Given the description of an element on the screen output the (x, y) to click on. 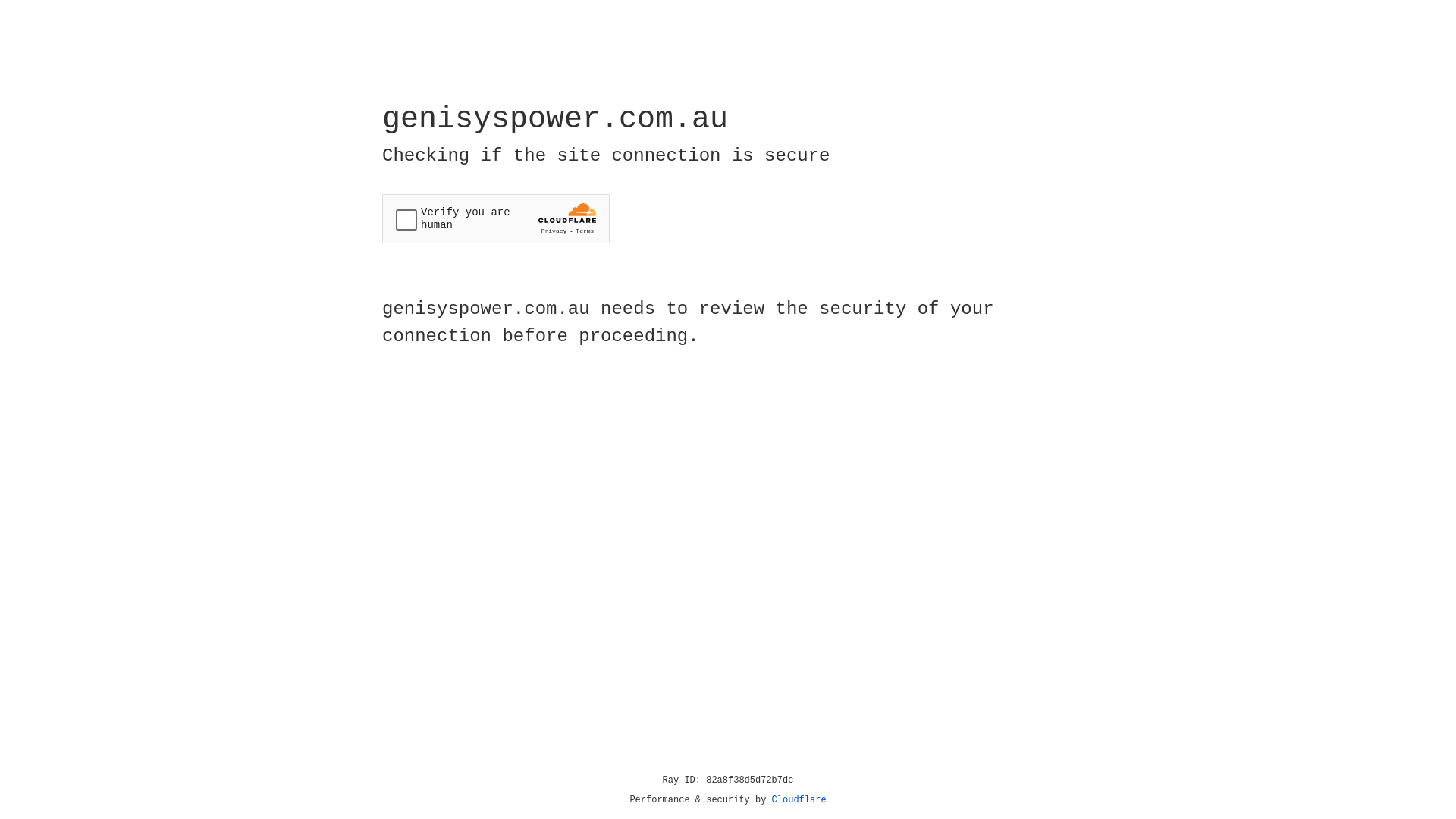
Cloudflare Element type: text (798, 799)
Widget containing a Cloudflare security challenge Element type: hover (495, 218)
